Given the description of an element on the screen output the (x, y) to click on. 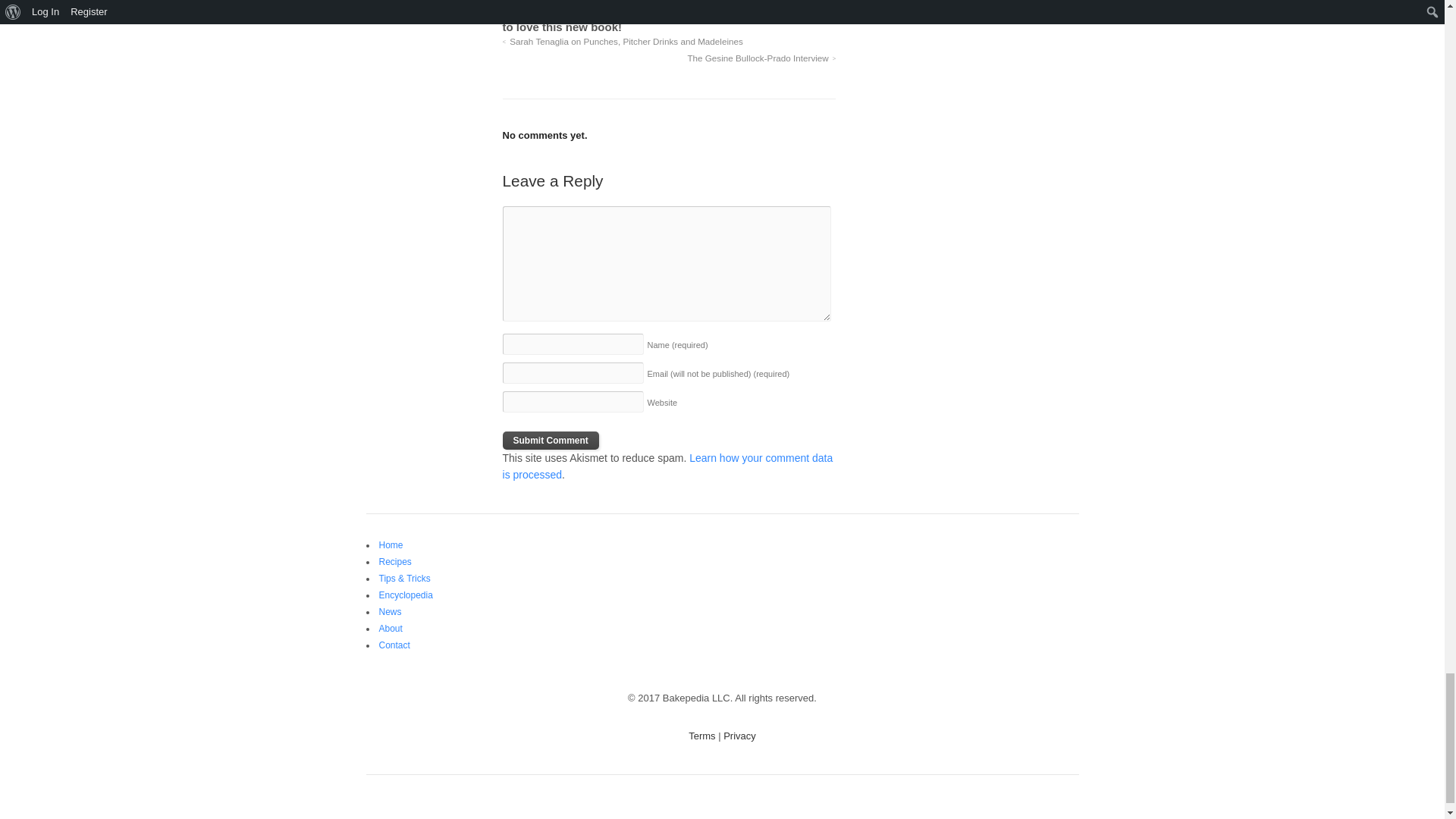
The Gesine Bullock-Prado Interview (761, 58)
Submit Comment (550, 440)
Recipes (395, 561)
Home (390, 544)
Submit Comment (550, 440)
Learn how your comment data is processed (667, 466)
Sarah Tenaglia on Punches, Pitcher Drinks and Madeleines (622, 40)
